Given the description of an element on the screen output the (x, y) to click on. 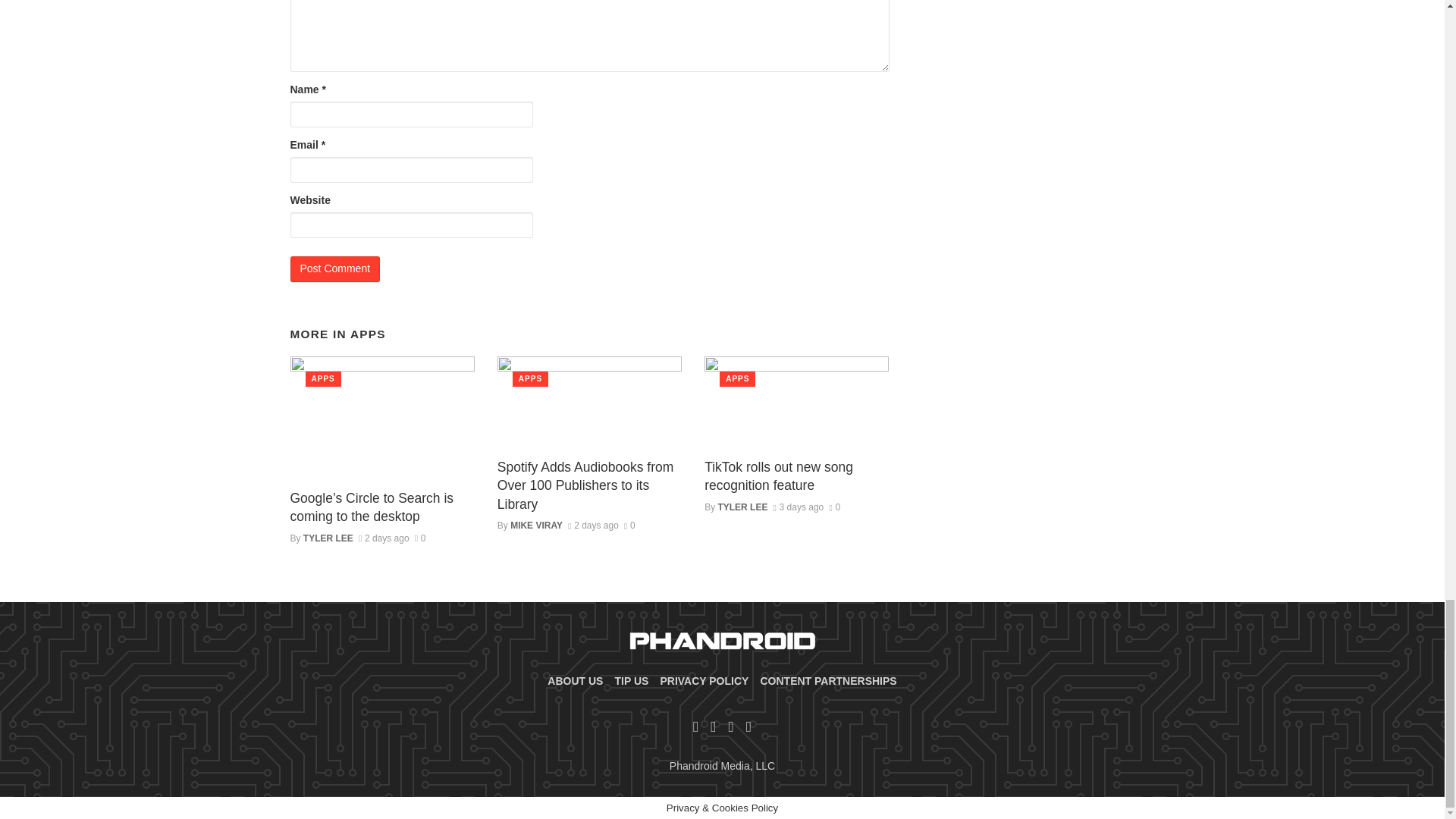
July 30, 2024 at 9:31 am (383, 538)
Post Comment (334, 268)
